Given the description of an element on the screen output the (x, y) to click on. 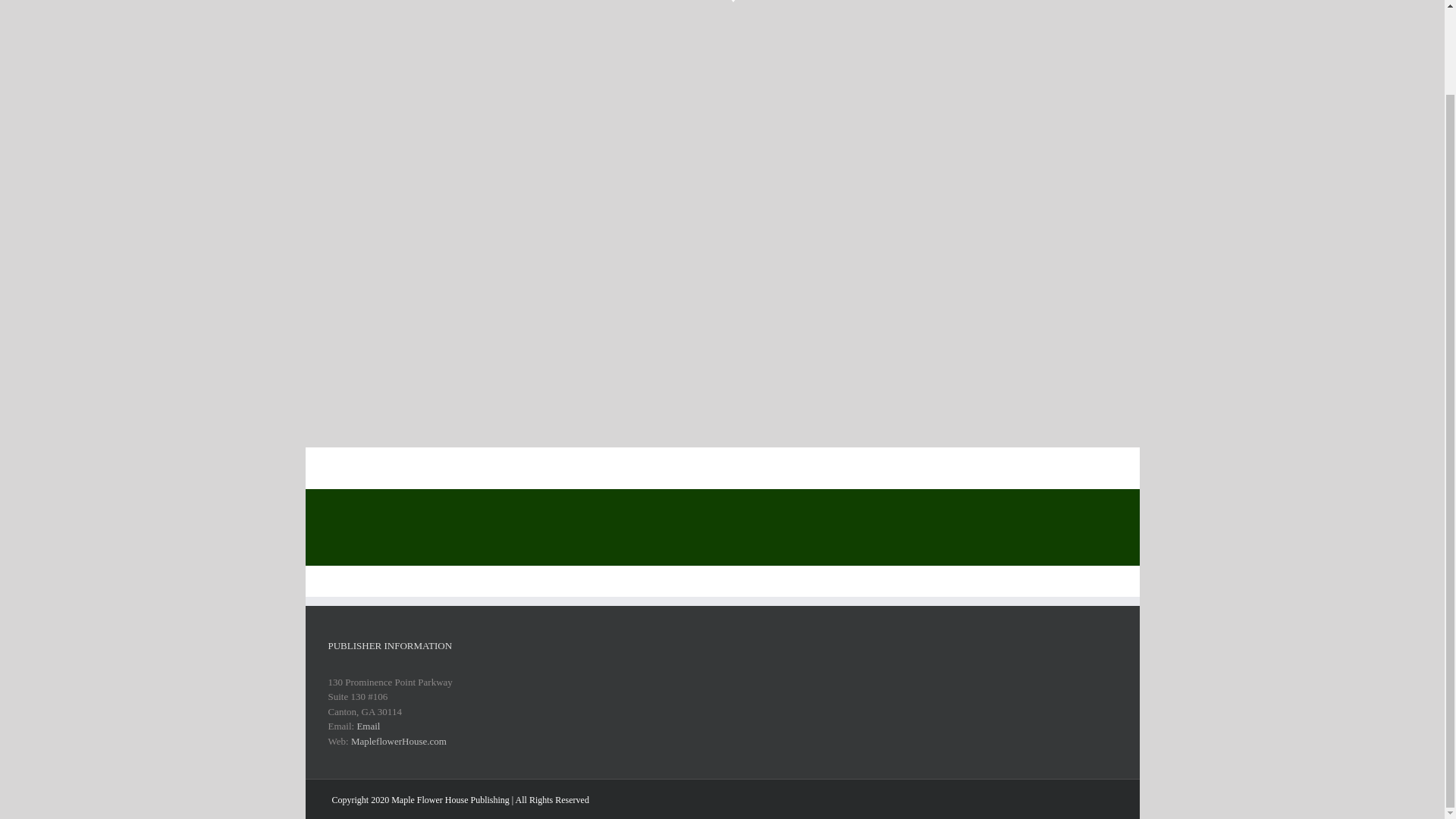
MapleflowerHouse.com (398, 740)
Email (368, 726)
